Given the description of an element on the screen output the (x, y) to click on. 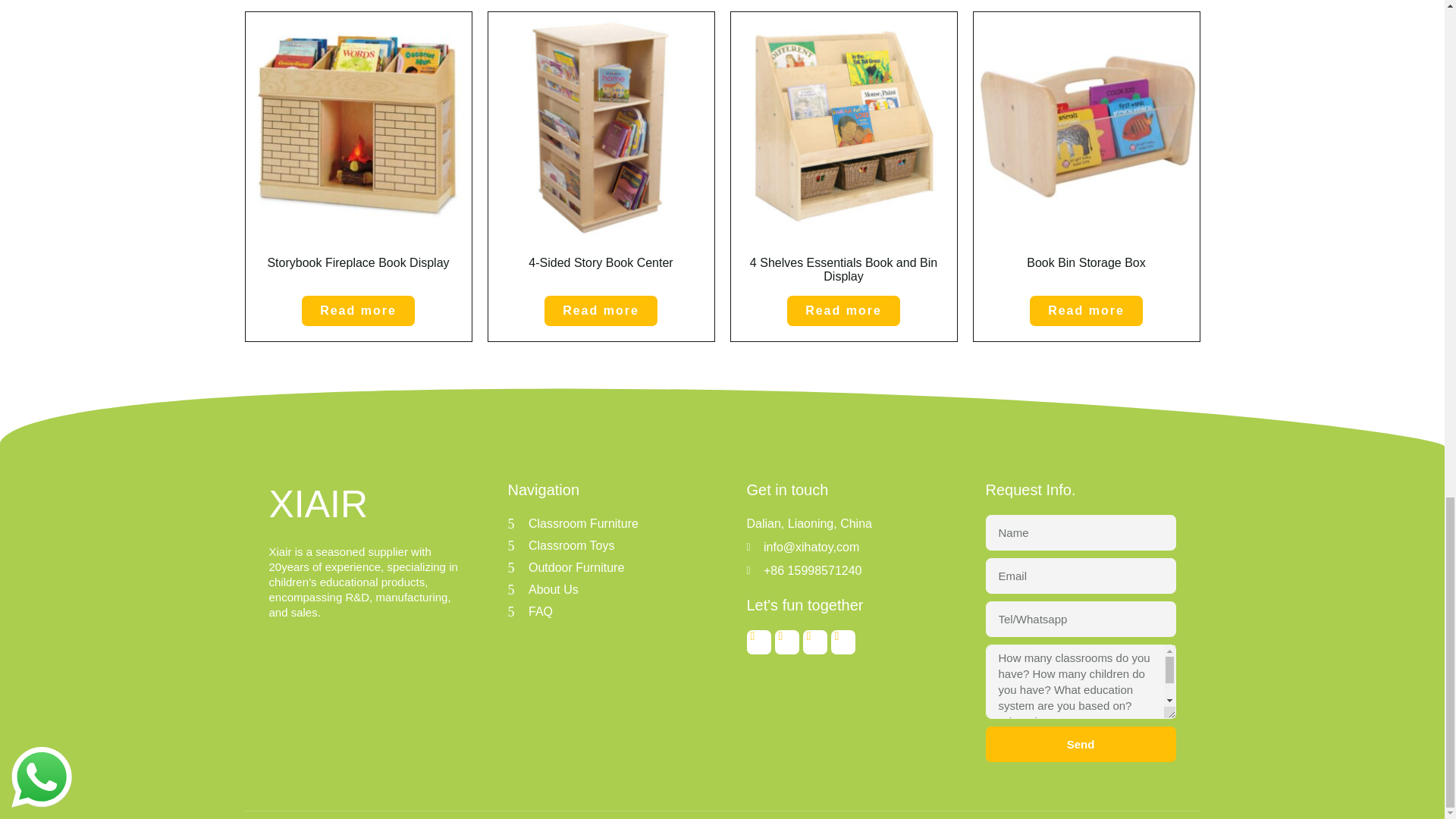
Read more (843, 310)
Outdoor Furniture (603, 567)
Read more (1085, 310)
Classroom Furniture (603, 524)
4 Shelves Essentials Book and Bin Display (843, 153)
4-Sided Story Book Center (600, 153)
Storybook Fireplace Book Display (358, 153)
Read more (601, 310)
About Us (603, 589)
Read more (357, 310)
Classroom Toys (603, 546)
Book Bin Storage Box (1086, 153)
